Given the description of an element on the screen output the (x, y) to click on. 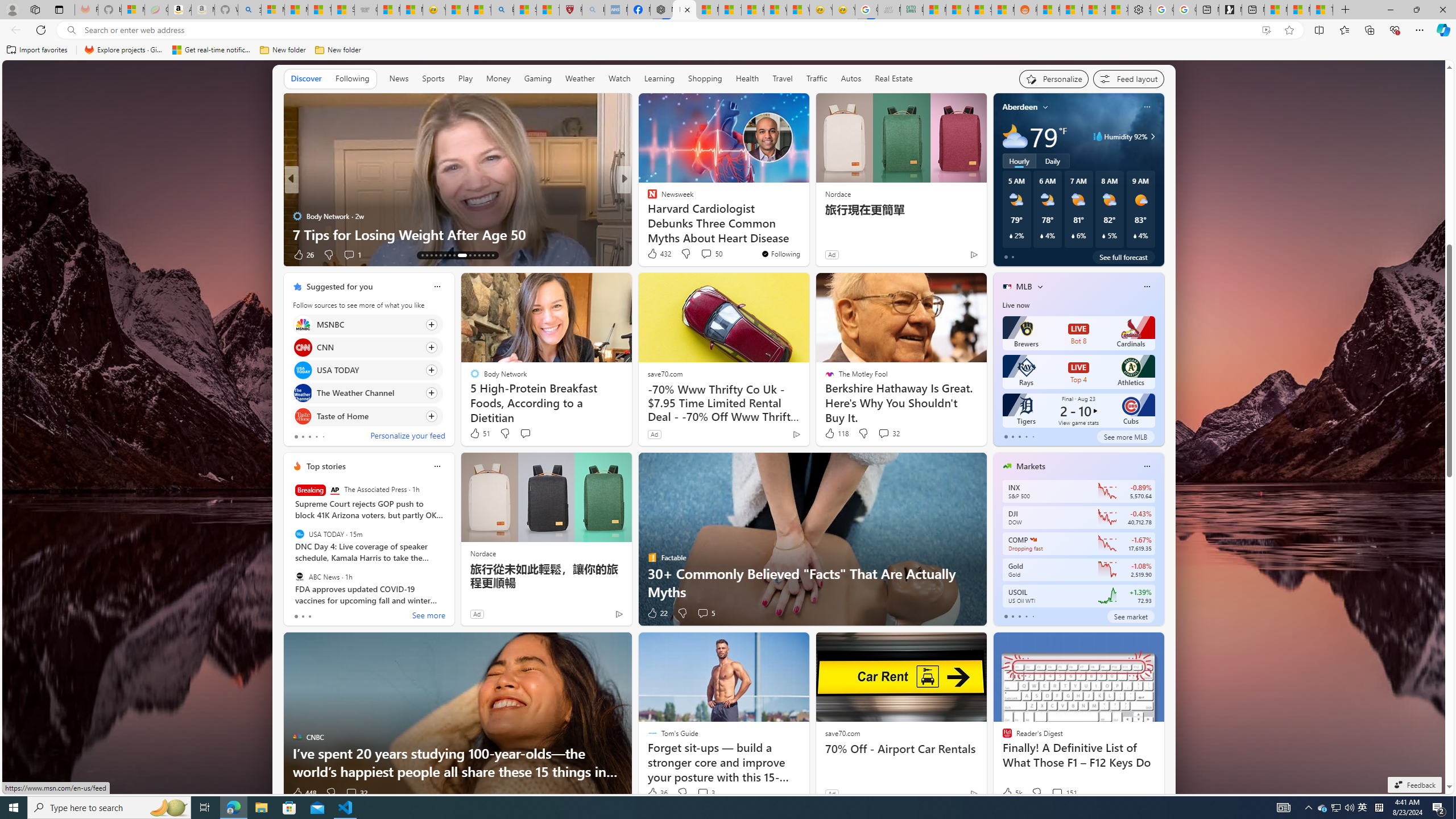
Ad (831, 793)
View comments 7 Comment (702, 254)
Watch (619, 79)
AutomationID: tab-68 (431, 255)
Real Estate (893, 78)
View comments 32 Comment (350, 792)
See market (1130, 616)
7 Tips for Losing Weight After Age 50 (457, 234)
AutomationID: tab-66 (422, 255)
